Given the description of an element on the screen output the (x, y) to click on. 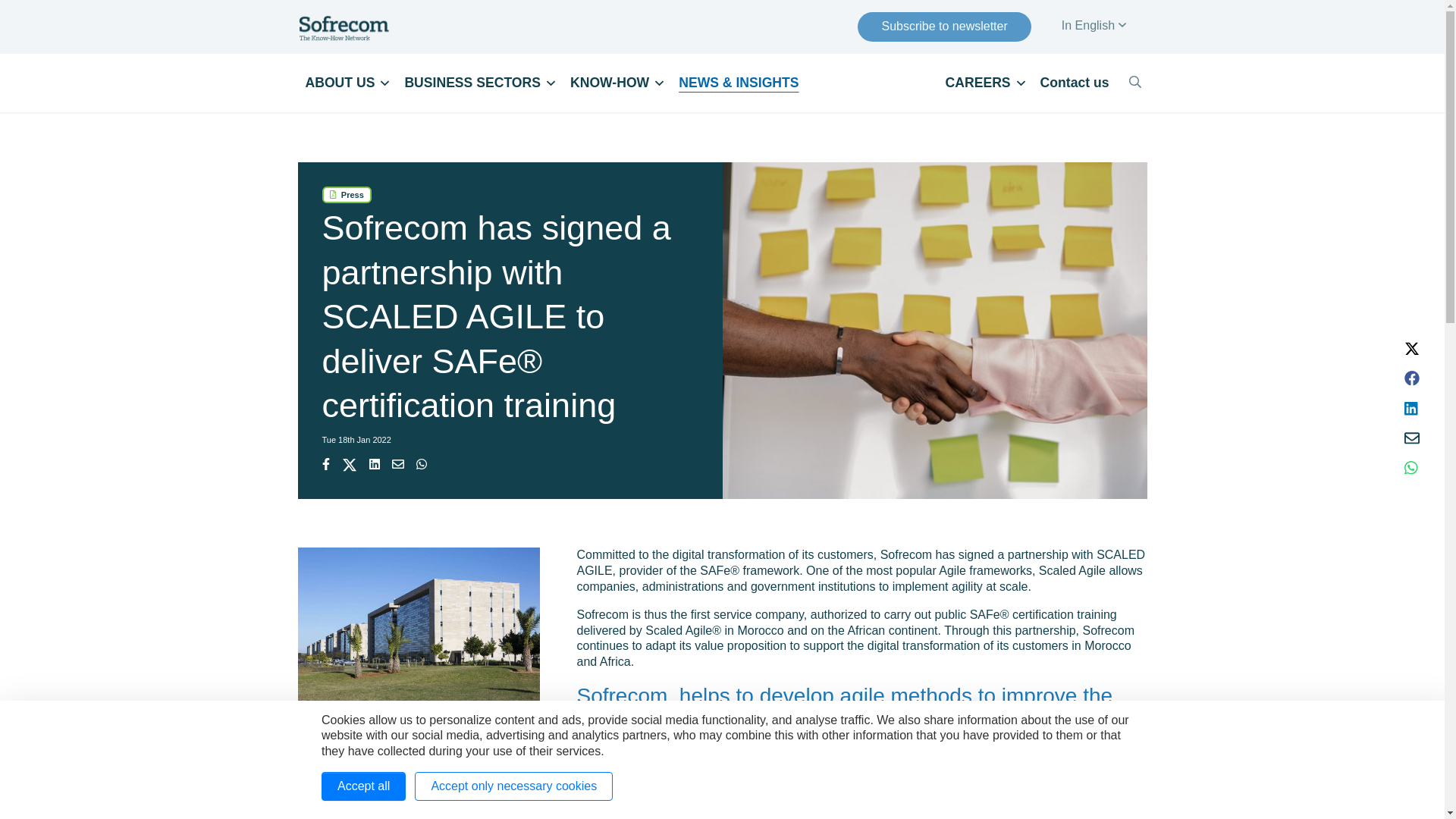
In English (1093, 26)
Contact us (1074, 82)
Subscribe to newsletter (943, 26)
